Given the description of an element on the screen output the (x, y) to click on. 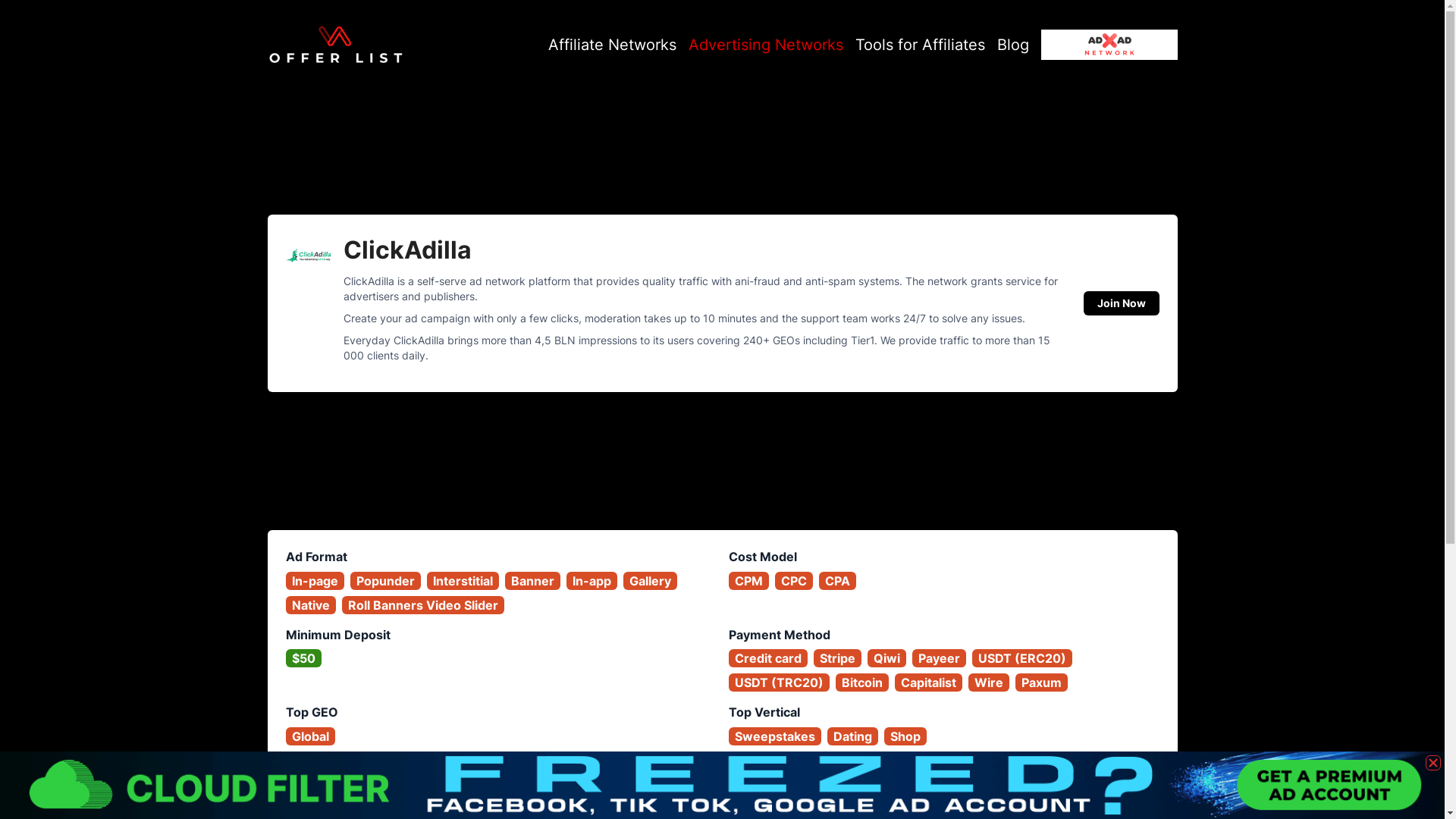
Tools for Affiliates (920, 45)
Advertising Networks (765, 45)
Affiliate Networks (611, 45)
Join Now (1120, 303)
Blog (1011, 45)
